Given the description of an element on the screen output the (x, y) to click on. 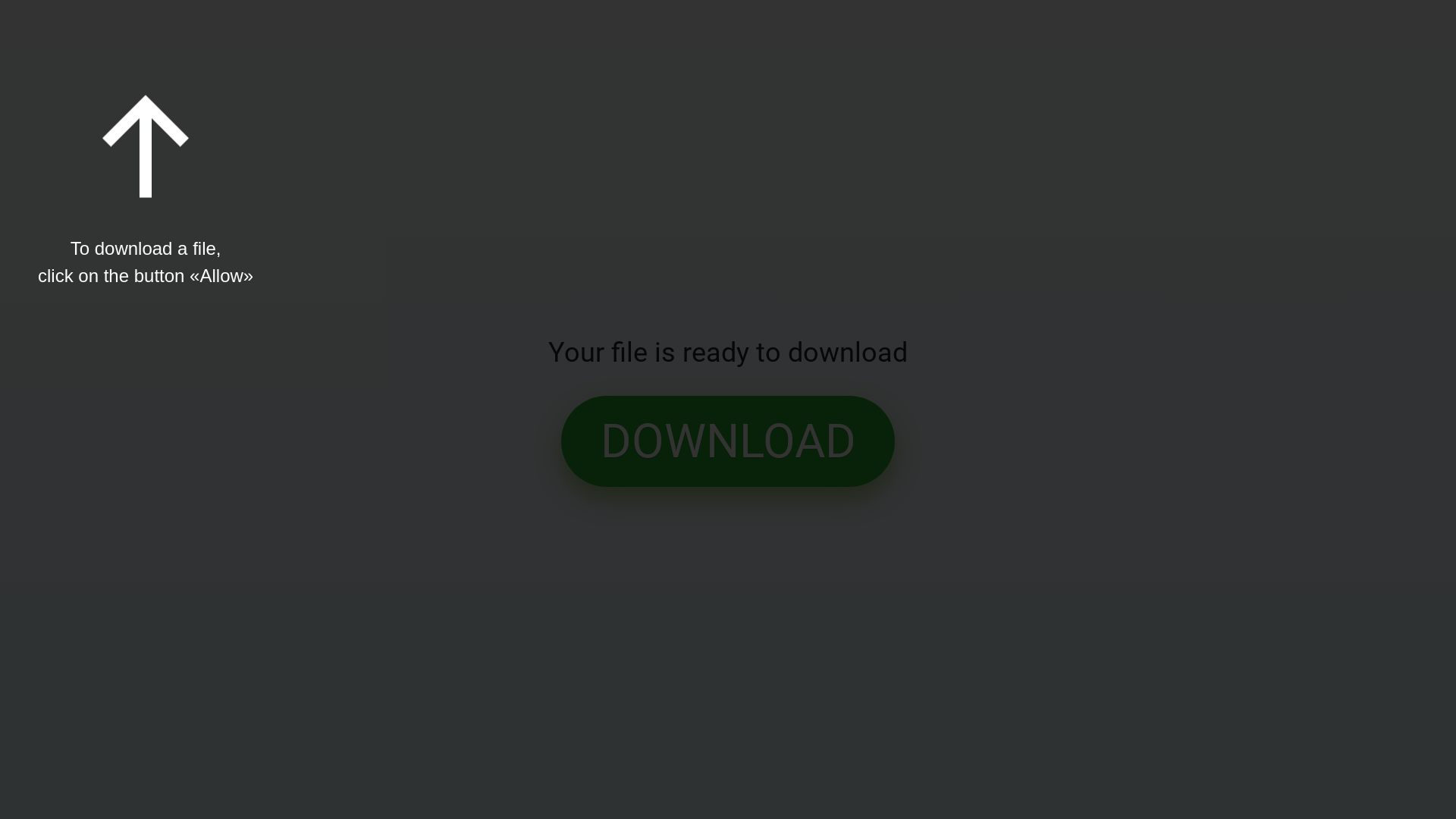
DOWNLOAD Element type: text (727, 440)
